Given the description of an element on the screen output the (x, y) to click on. 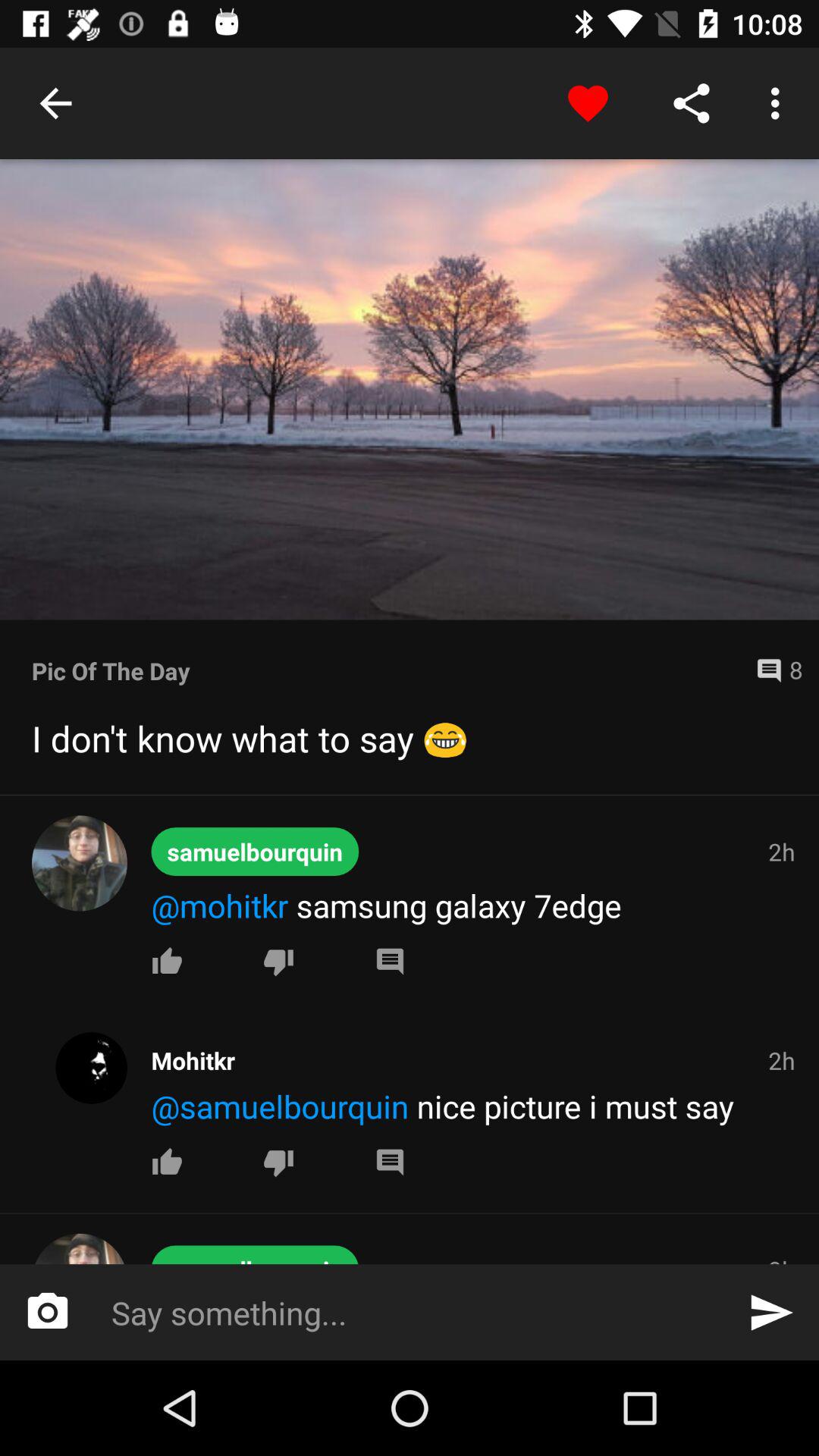
select the icon next to the pic of the (773, 670)
